Given the description of an element on the screen output the (x, y) to click on. 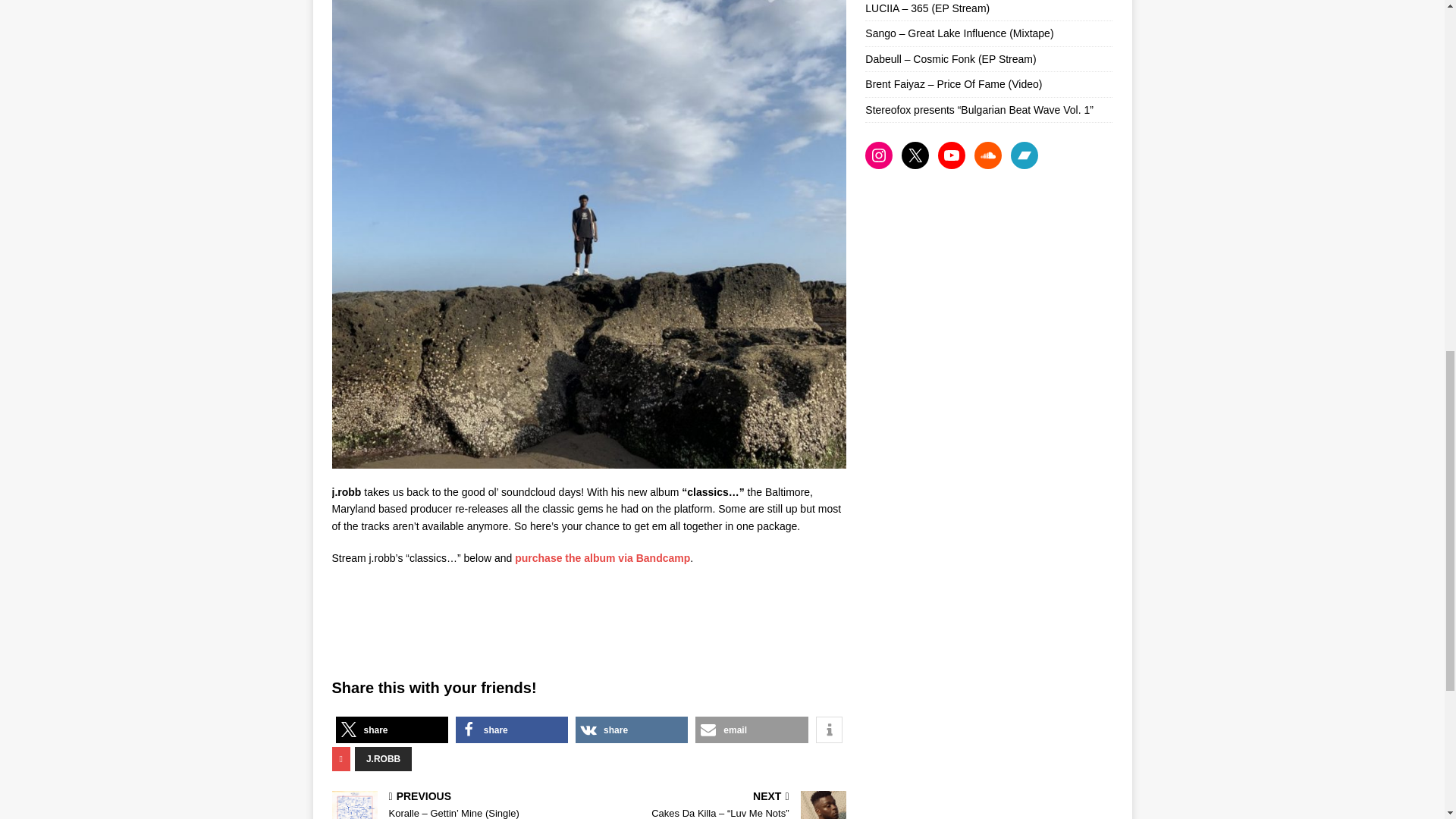
Share on VK (631, 729)
Share on Facebook (511, 729)
Share on X (390, 729)
More information (829, 729)
Send by email (751, 729)
